Given the description of an element on the screen output the (x, y) to click on. 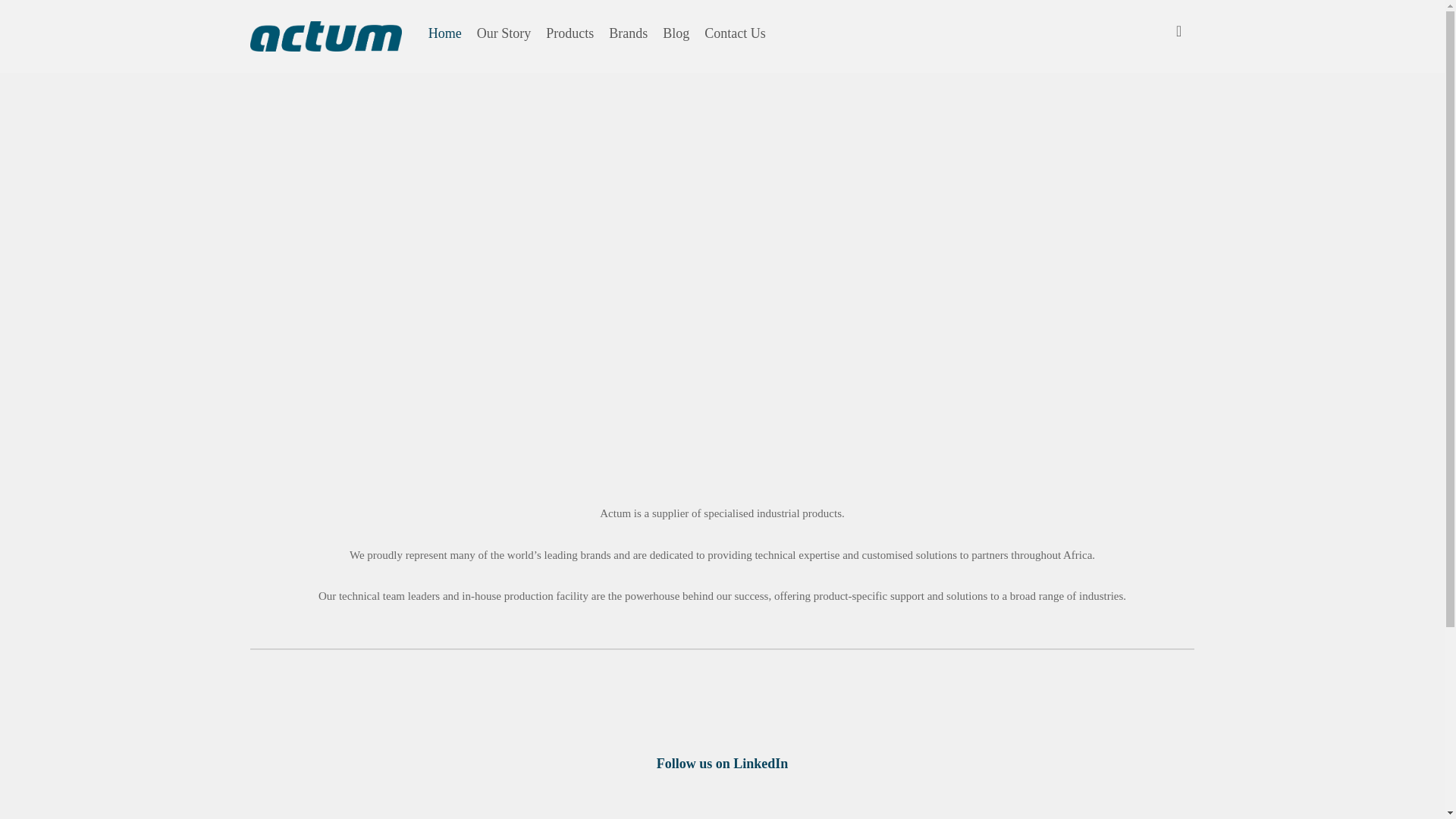
Products (570, 33)
Our Story (504, 33)
Home (444, 33)
